Given the description of an element on the screen output the (x, y) to click on. 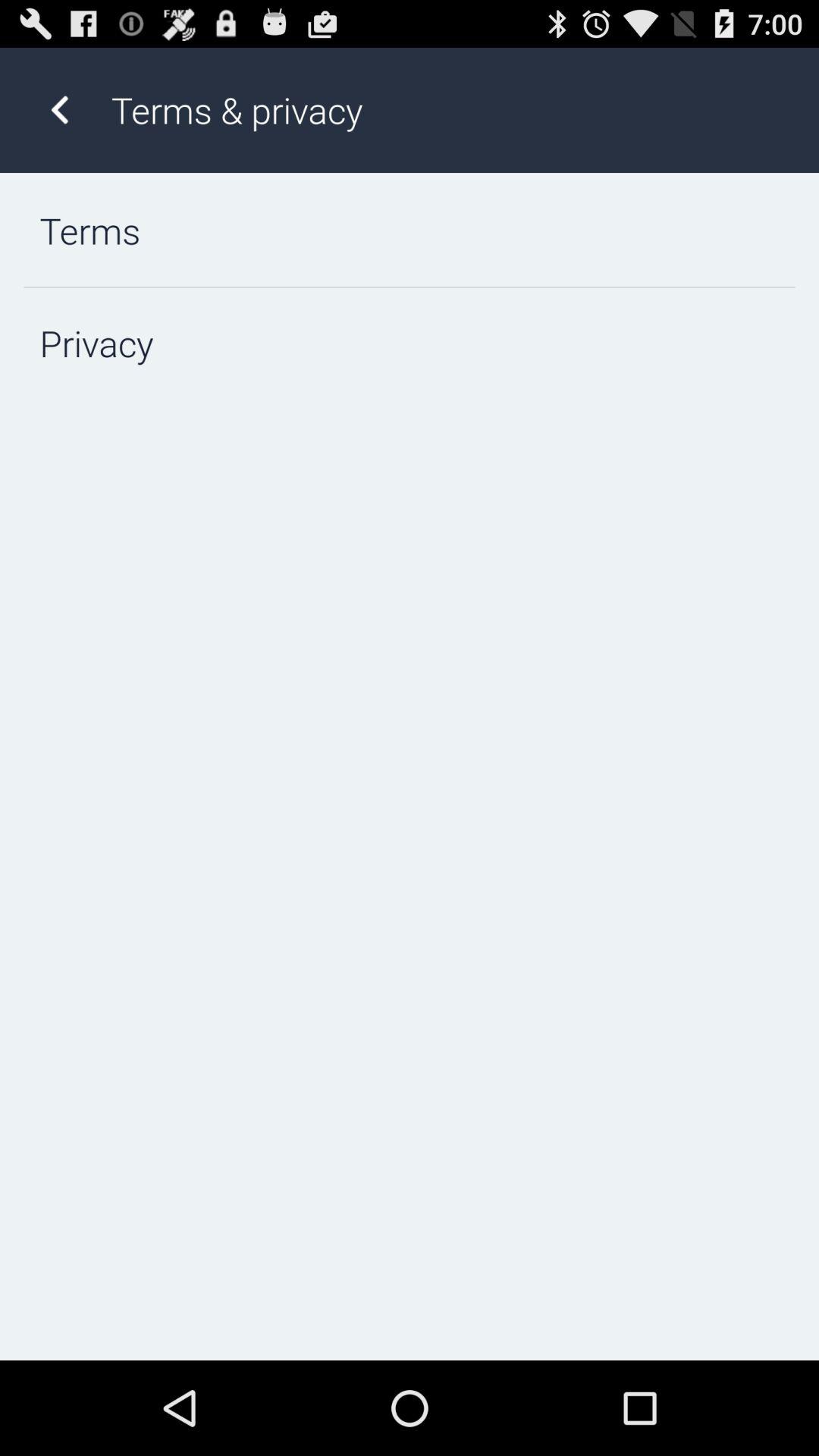
jump until the terms & privacy (449, 109)
